Given the description of an element on the screen output the (x, y) to click on. 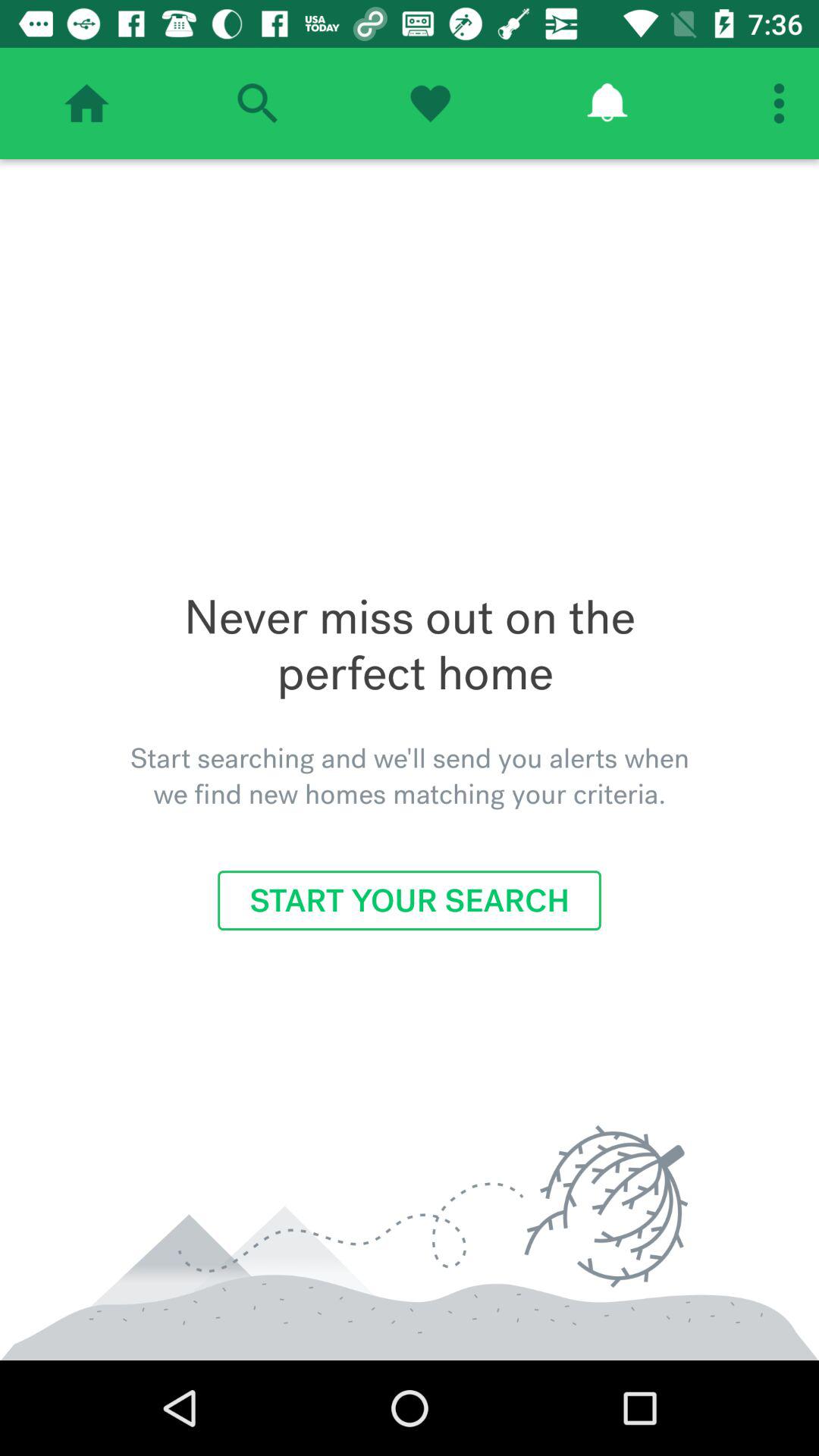
show reminders (606, 103)
